Given the description of an element on the screen output the (x, y) to click on. 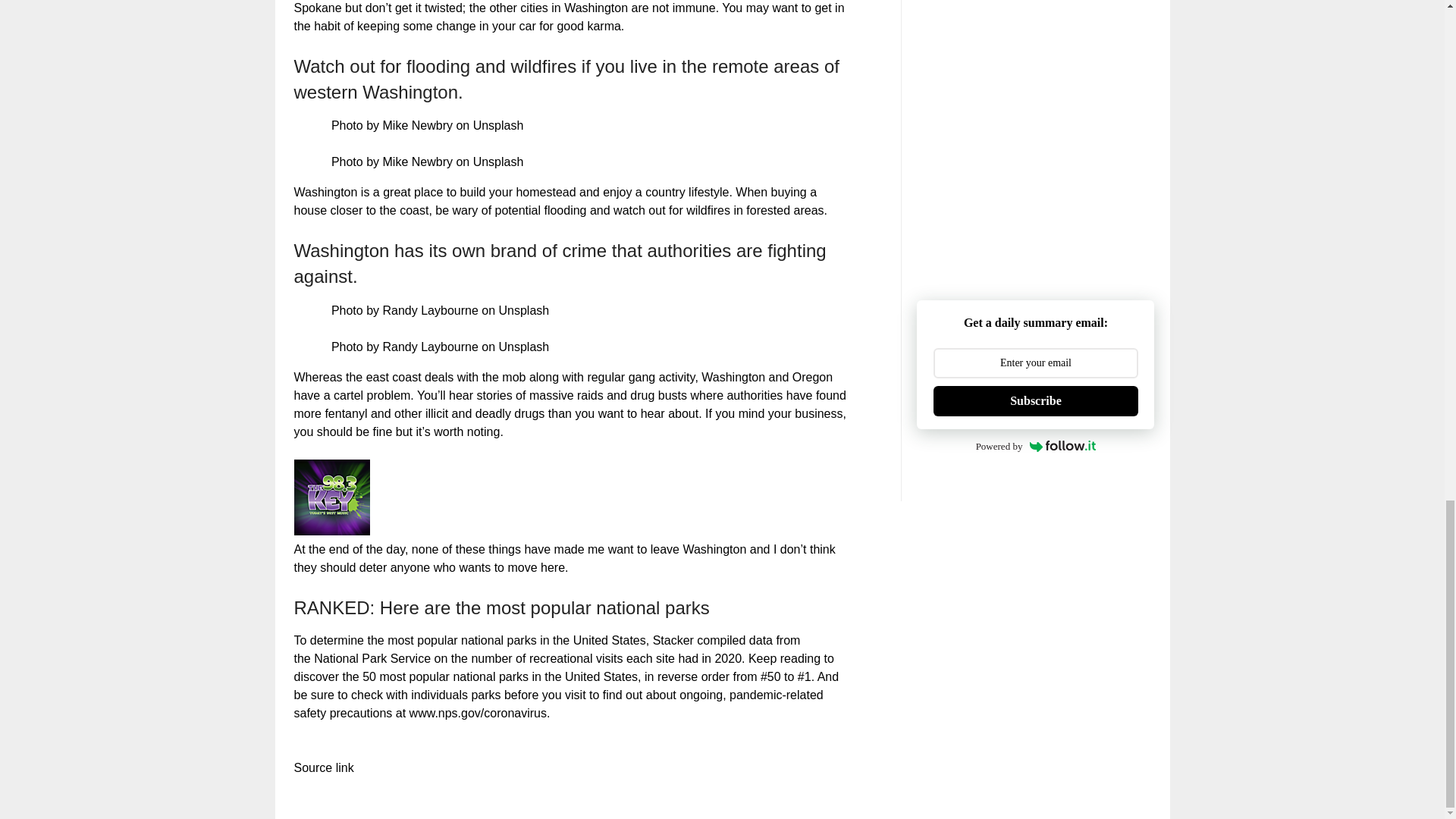
Unsplash (524, 346)
fentanyl (346, 413)
Stacker (673, 640)
Powered by (1035, 445)
National Park Service (372, 658)
Unsplash (498, 161)
Subscribe (1035, 400)
Source link (323, 767)
Randy Laybourne (429, 346)
Mike Newbry (416, 161)
